Given the description of an element on the screen output the (x, y) to click on. 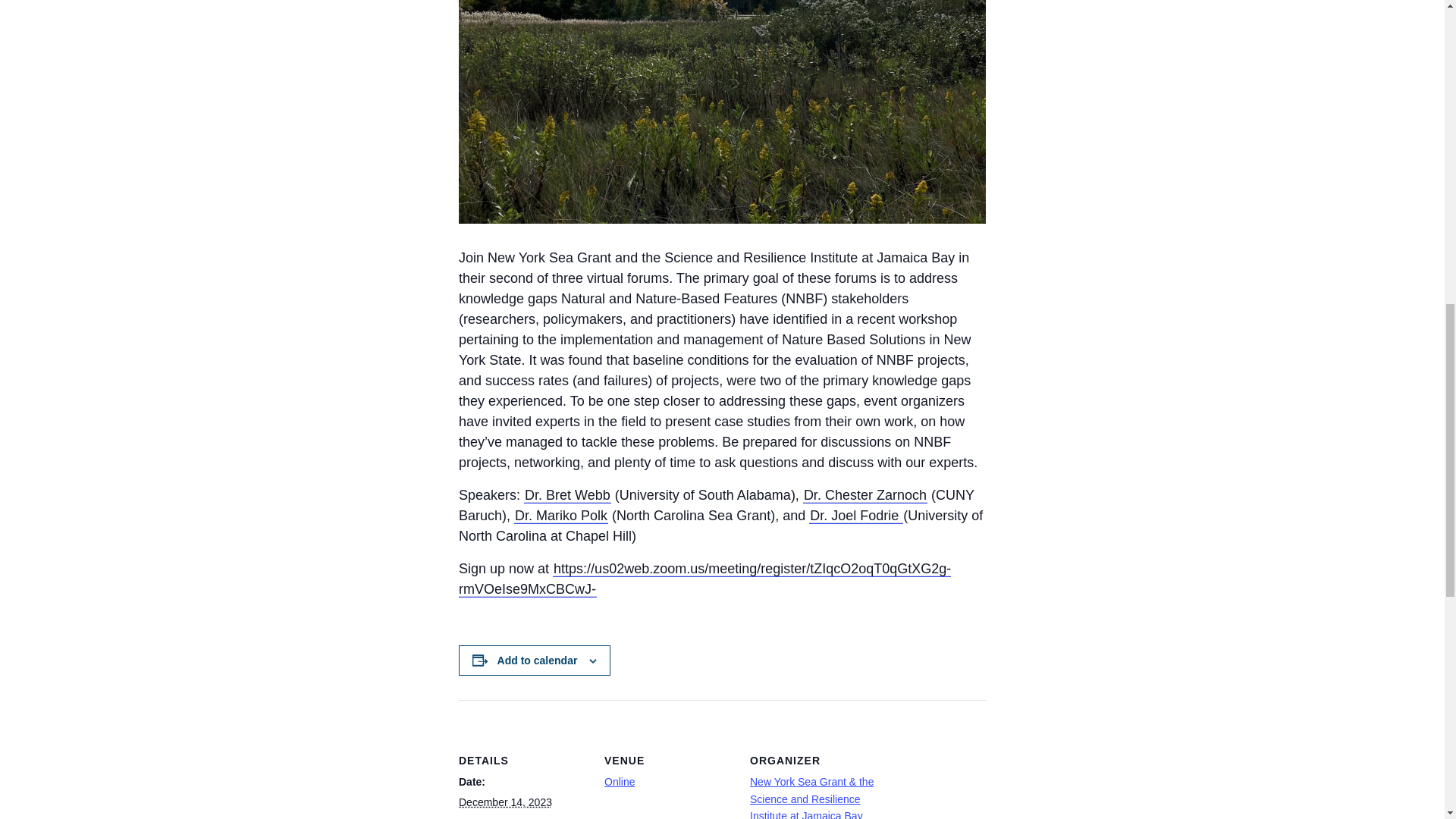
2023-12-14 (504, 802)
